Given the description of an element on the screen output the (x, y) to click on. 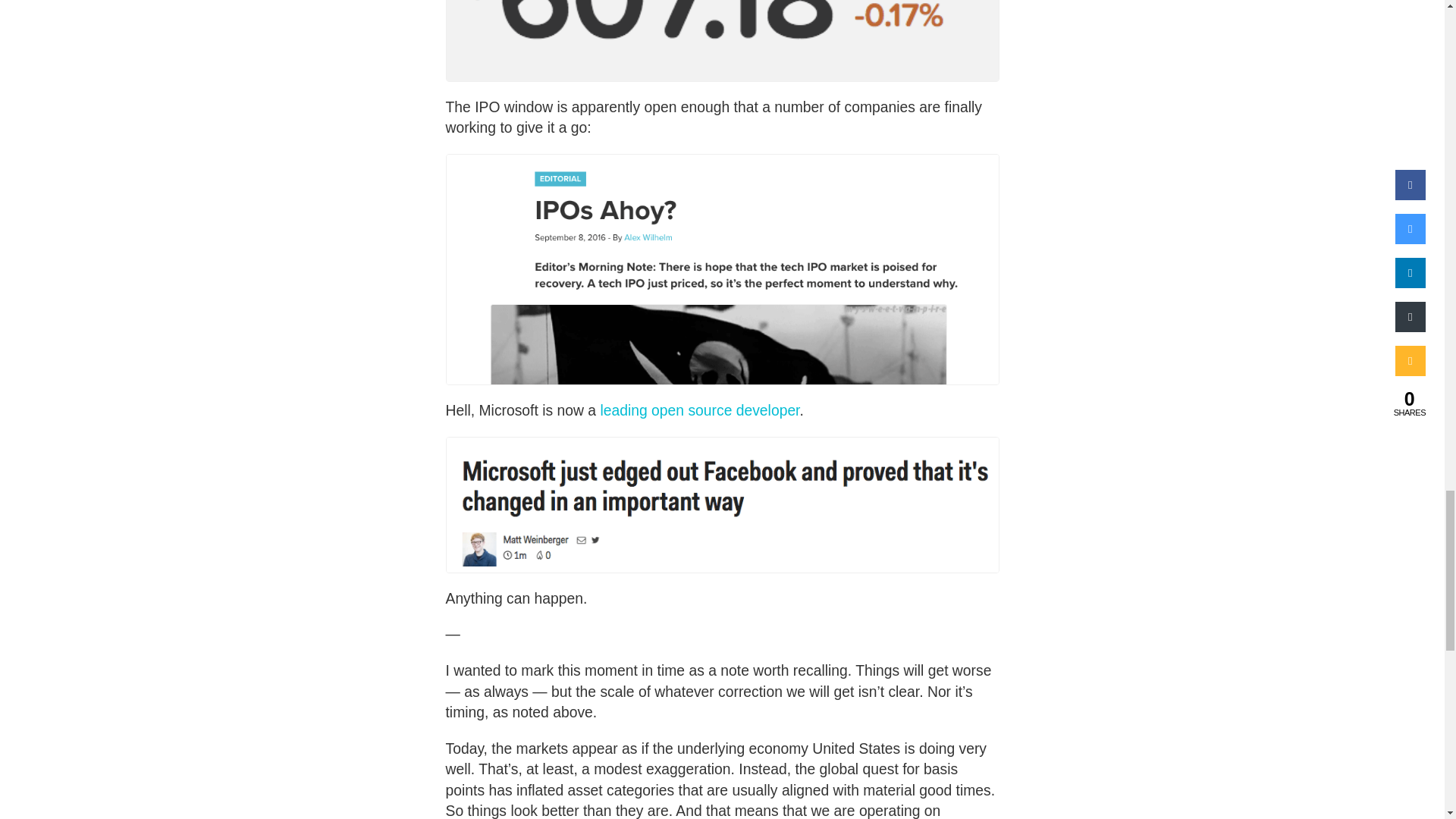
leading open source developer (699, 410)
